Given the description of an element on the screen output the (x, y) to click on. 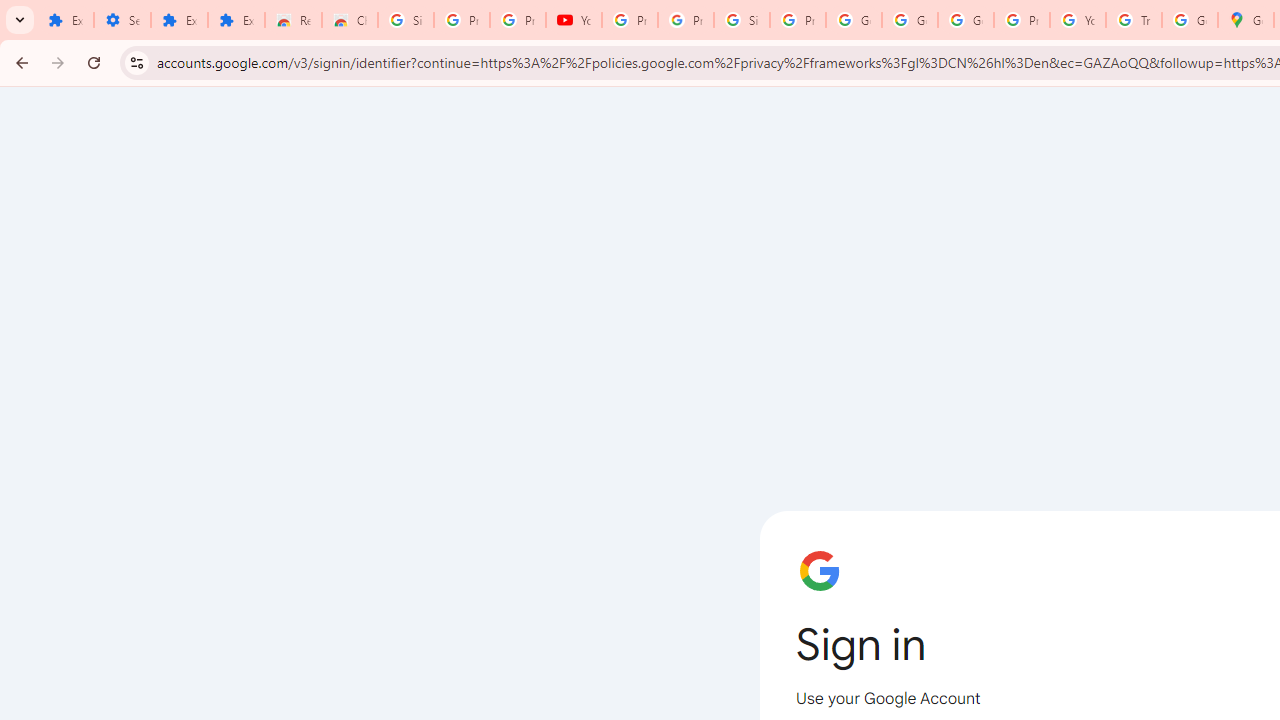
Chrome Web Store - Themes (349, 20)
Google Account (909, 20)
Extensions (65, 20)
Reviews: Helix Fruit Jump Arcade Game (293, 20)
Sign in - Google Accounts (405, 20)
